Given the description of an element on the screen output the (x, y) to click on. 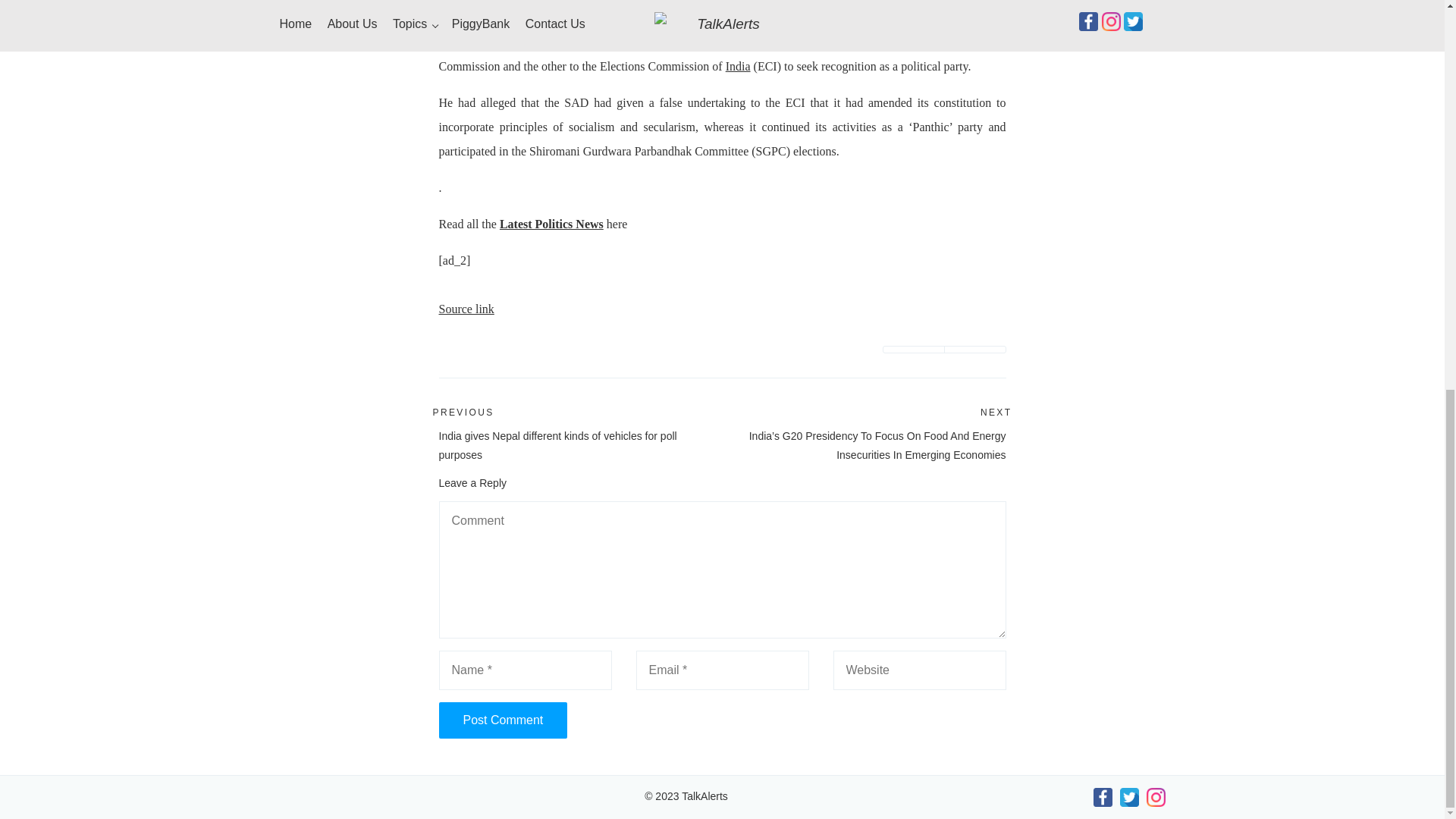
Source link (465, 308)
Share on Facebook (975, 349)
Latest Politics News (551, 223)
Post Comment (502, 719)
India (738, 65)
Post Comment (502, 719)
Share on Twitter (912, 349)
